Given the description of an element on the screen output the (x, y) to click on. 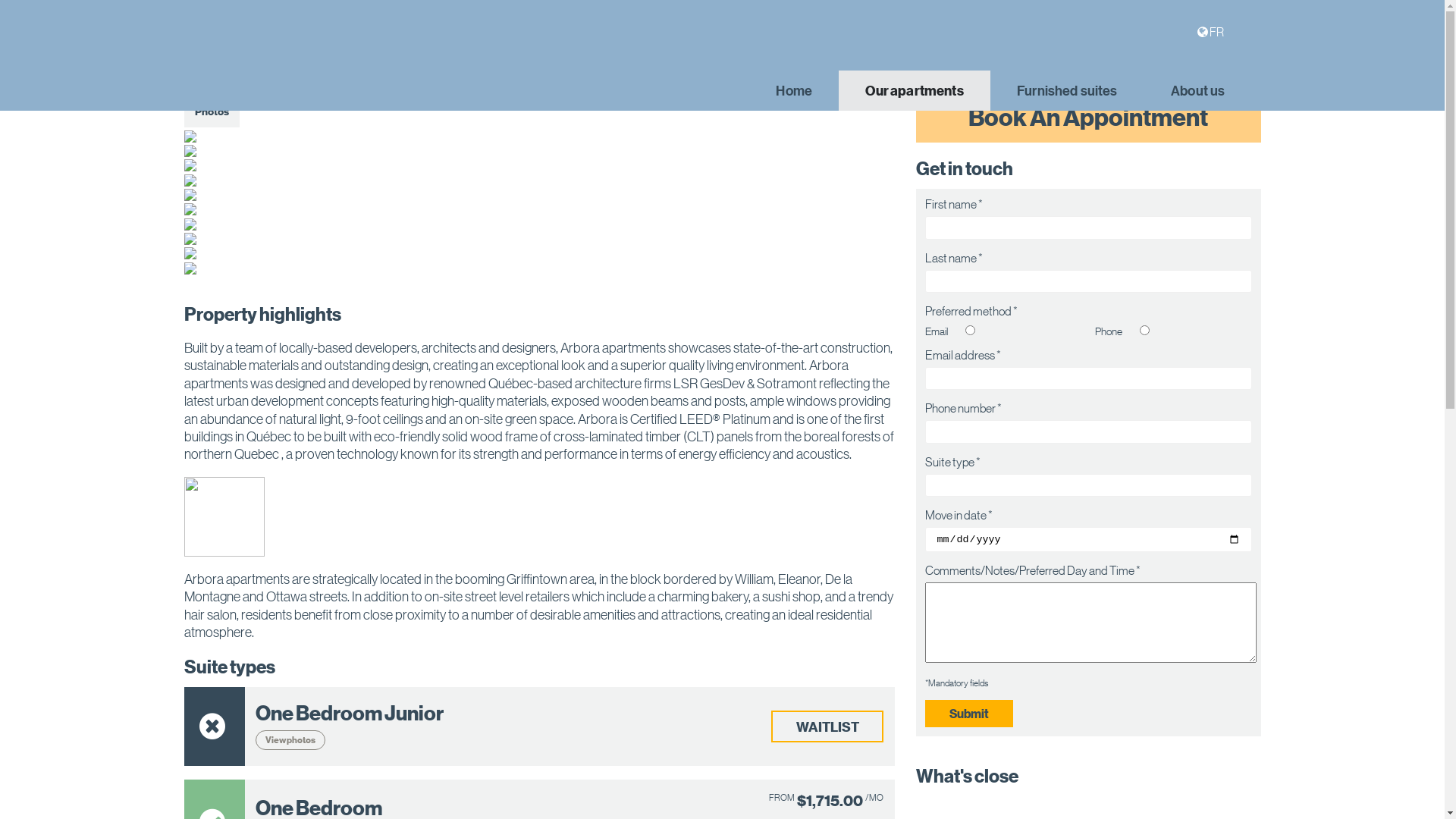
submit Element type: text (20, 7)
Book An Appointment Element type: text (1088, 116)
WAITLIST Element type: text (827, 726)
Submit Element type: text (969, 713)
Our apartments Element type: text (914, 90)
About us Element type: text (1198, 90)
Photos Element type: text (210, 111)
Furnished suites Element type: text (1067, 90)
Home Element type: text (793, 90)
View photos Element type: text (290, 739)
FR Element type: text (1215, 31)
